Given the description of an element on the screen output the (x, y) to click on. 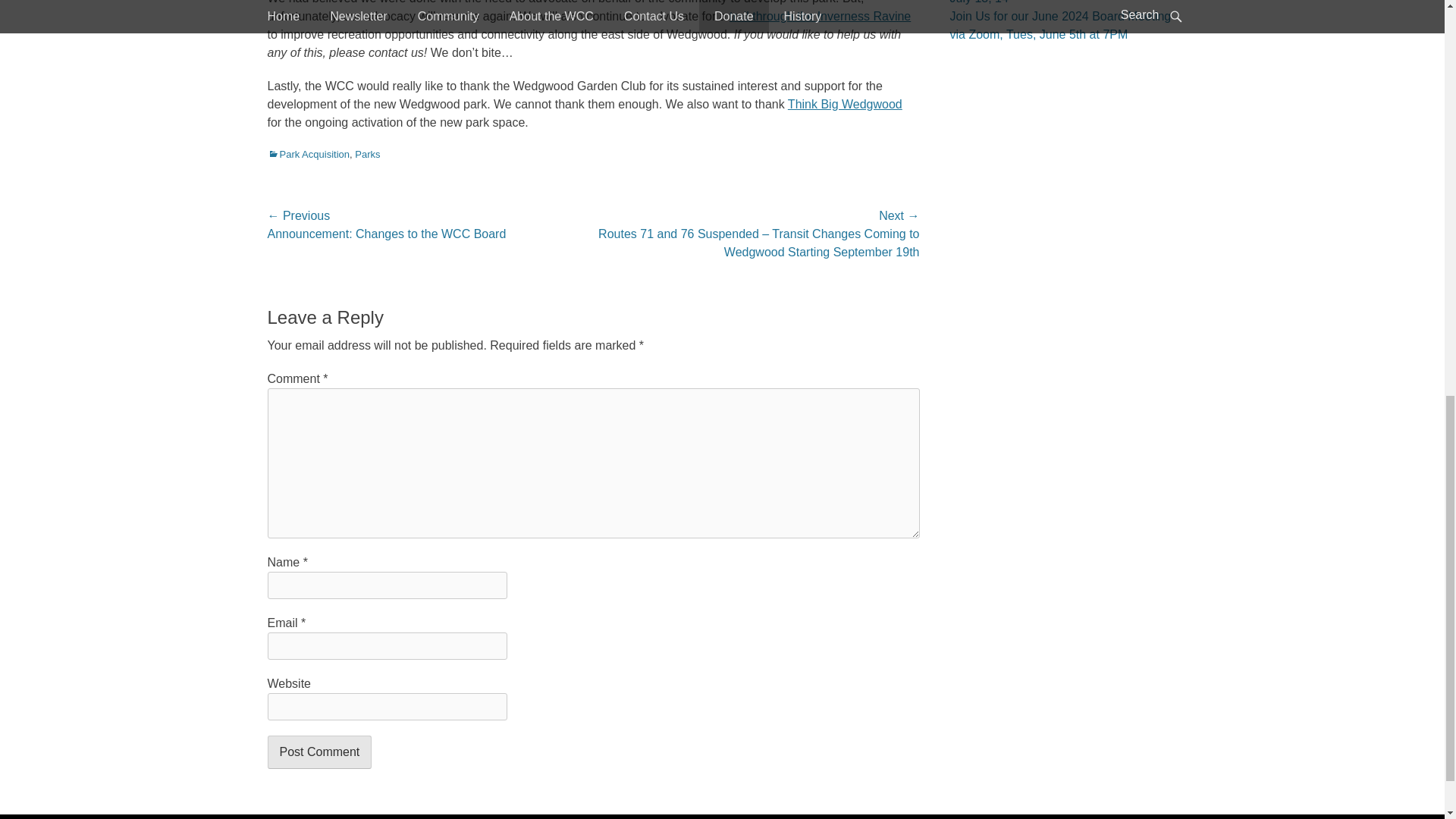
trail through the Inverness Ravine (820, 15)
Think Big Wedgwood (844, 103)
Parks (367, 153)
Post Comment (318, 752)
Park Acquisition (307, 153)
